Given the description of an element on the screen output the (x, y) to click on. 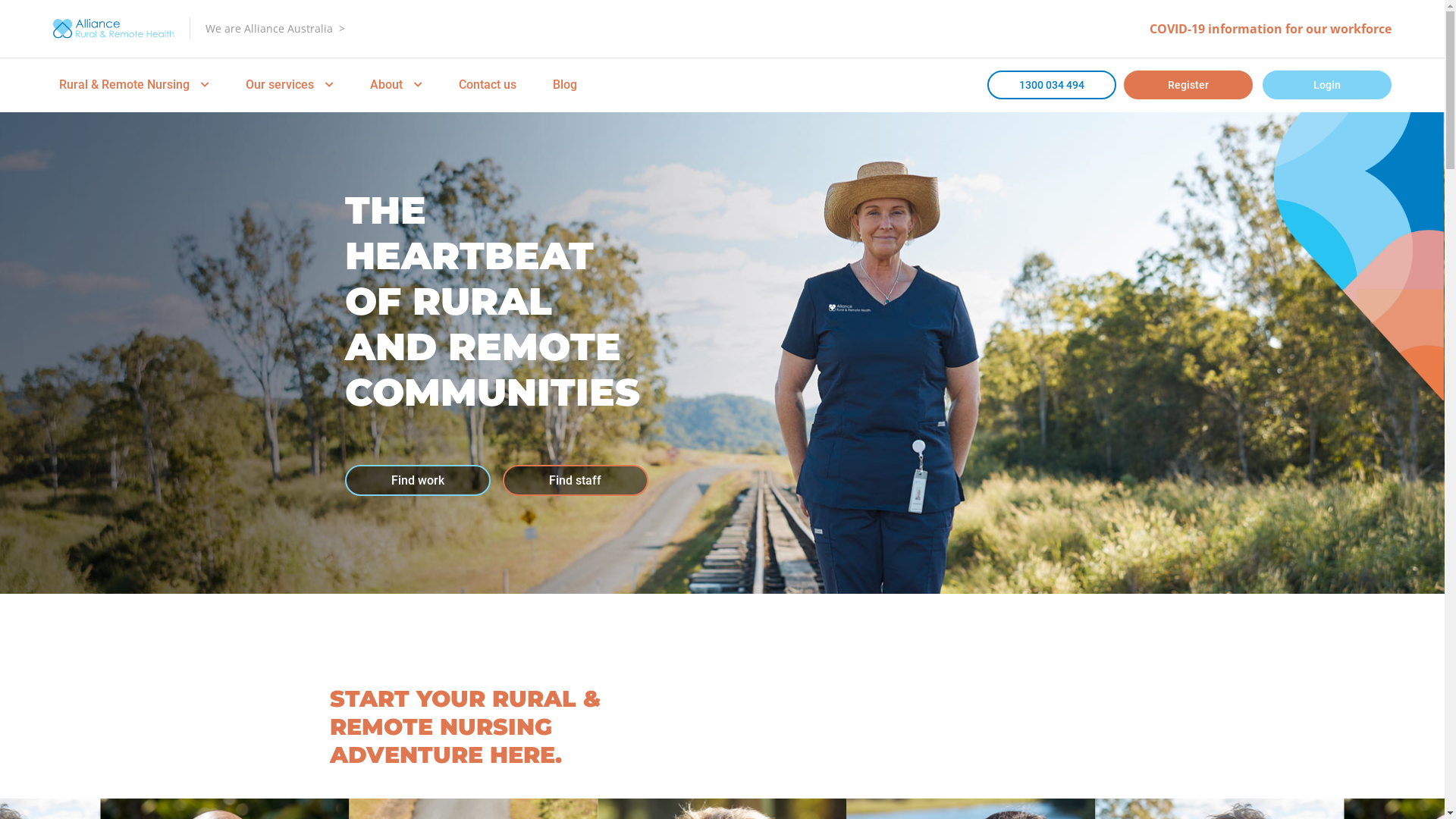
About Element type: text (396, 84)
Blog Element type: text (564, 84)
Find staff Element type: text (574, 479)
Find work Element type: text (416, 479)
1300 034 494 Element type: text (1051, 84)
We are Alliance Australia  > Element type: text (274, 28)
Our services Element type: text (289, 84)
Login Element type: text (1326, 84)
Register Element type: text (1187, 84)
COVID-19 information for our workforce Element type: text (1270, 28)
Contact us Element type: text (487, 84)
Rural & Remote Nursing Element type: text (134, 84)
